Given the description of an element on the screen output the (x, y) to click on. 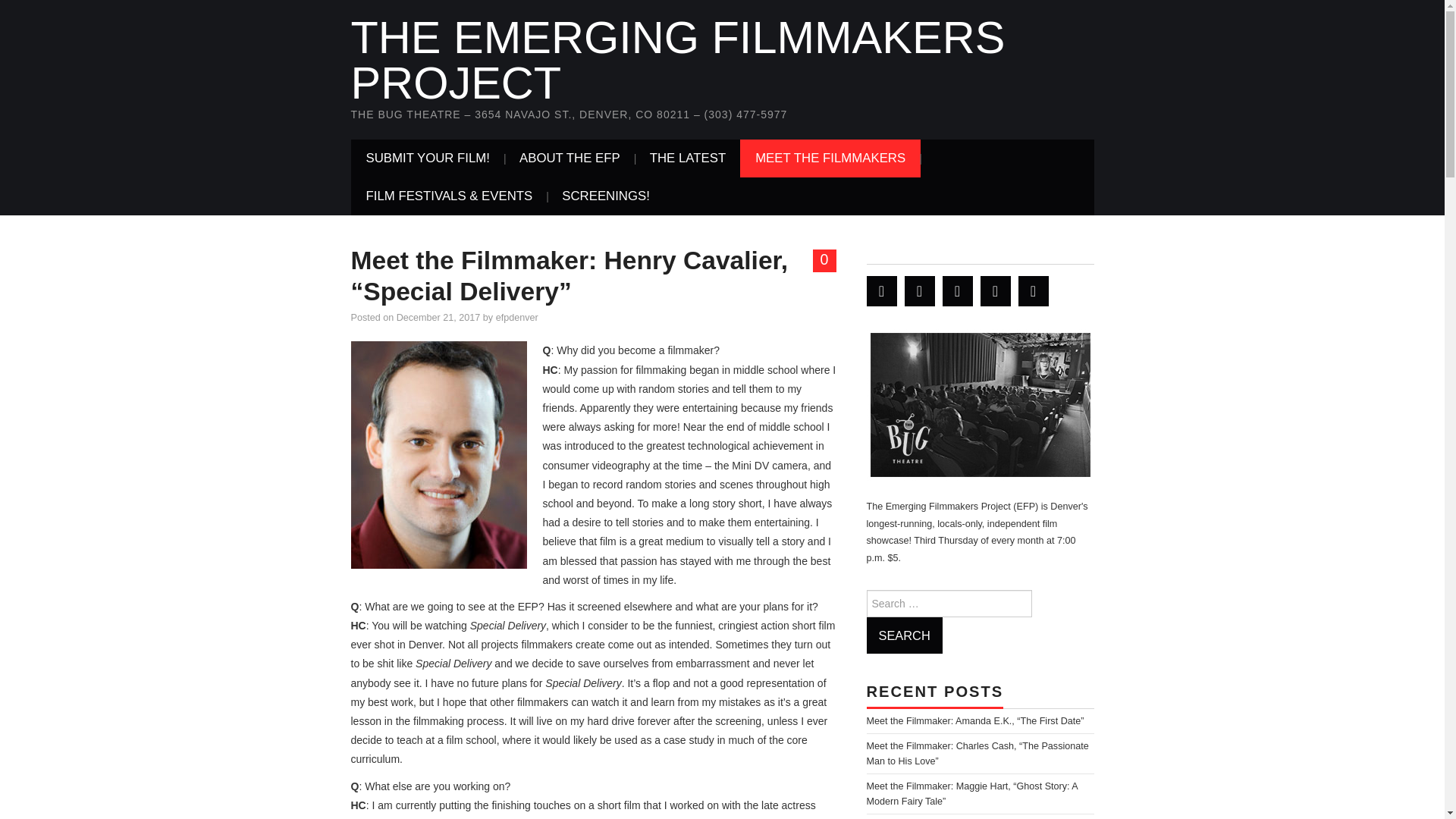
Search (904, 635)
MEET THE FILMMAKERS (829, 158)
Search (904, 635)
View all posts by efpdenver (517, 317)
Twitter (881, 291)
SCREENINGS! (606, 196)
Instagram (1032, 291)
Flickr (994, 291)
ABOUT THE EFP (568, 158)
THE EMERGING FILMMAKERS PROJECT (677, 60)
10:23 am (438, 317)
THE LATEST (687, 158)
The Emerging Filmmakers Project (677, 60)
Facebook (919, 291)
SUBMIT YOUR FILM! (427, 158)
